Given the description of an element on the screen output the (x, y) to click on. 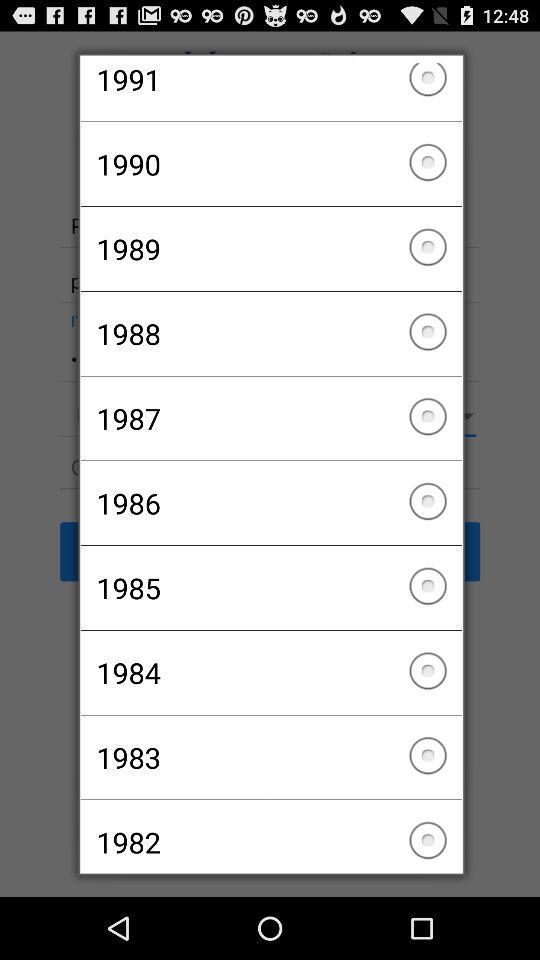
select 1988 (270, 333)
